Given the description of an element on the screen output the (x, y) to click on. 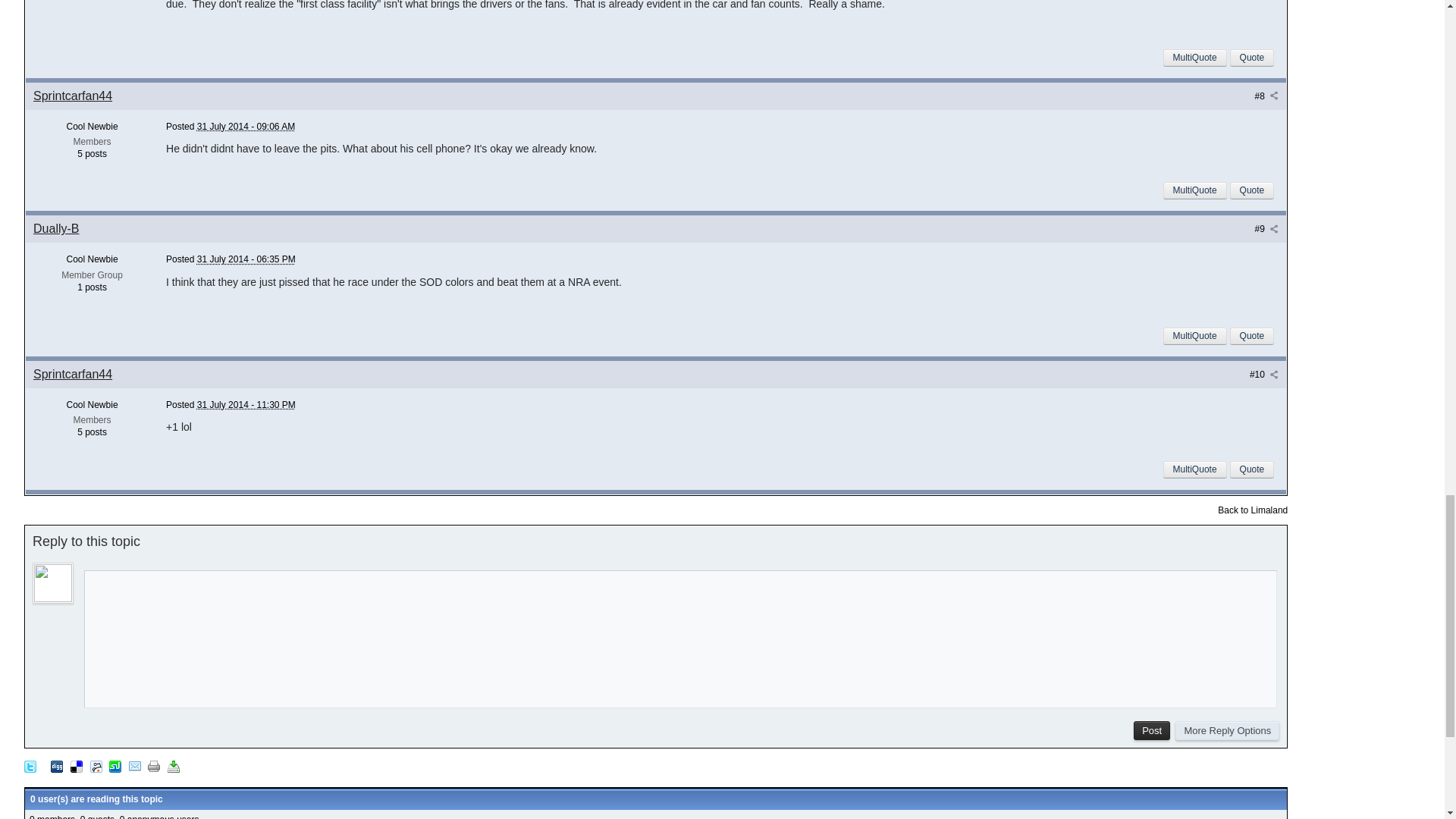
More Reply Options (1226, 730)
Post (1152, 730)
